Given the description of an element on the screen output the (x, y) to click on. 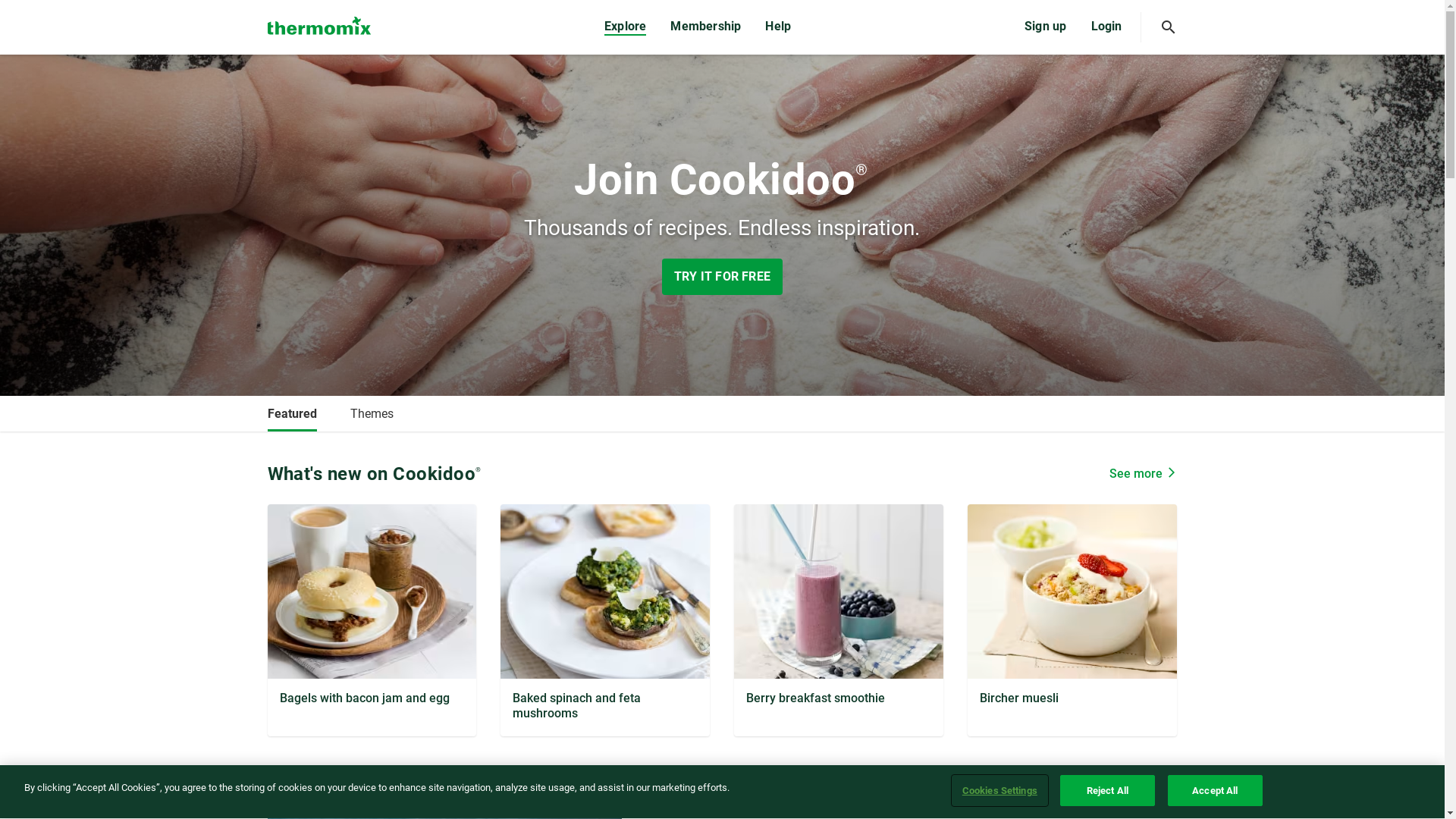
Bagels with bacon jam and egg Element type: text (371, 618)
TRY IT FOR FREE Element type: text (722, 276)
Bircher muesli Element type: text (1071, 618)
Sign up Element type: text (1045, 27)
Featured Element type: text (291, 413)
See more Element type: text (1142, 473)
Explore Element type: text (625, 27)
Membership Element type: text (705, 27)
Bircher muesli Element type: hover (1071, 591)
Bagels with bacon jam and egg Element type: hover (371, 591)
Help Element type: text (777, 27)
Cookies Settings Element type: text (999, 790)
Berry breakfast smoothie Element type: hover (838, 591)
Berry breakfast smoothie Element type: text (838, 618)
Login Element type: text (1105, 27)
Baked spinach and feta mushrooms Element type: text (604, 620)
Baked spinach and feta mushrooms Element type: hover (604, 591)
Themes Element type: text (371, 413)
Reject All Element type: text (1107, 790)
Accept All Element type: text (1214, 790)
